Given the description of an element on the screen output the (x, y) to click on. 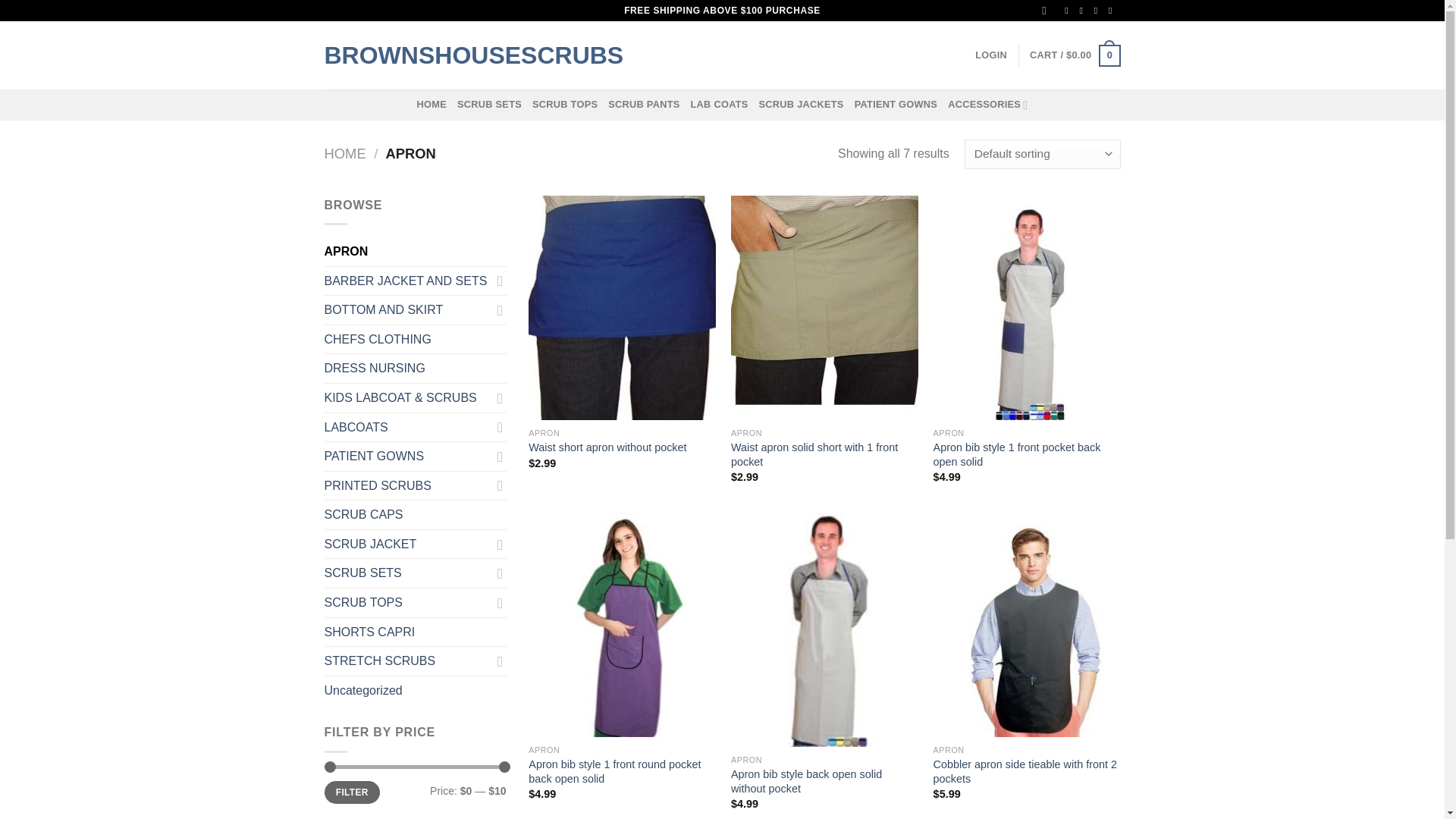
Cart (1074, 55)
ACCESSORIES (987, 104)
BOTTOM AND SKIRT (407, 309)
APRON (415, 251)
Brownshousescrubs (358, 55)
PATIENT GOWNS (895, 104)
SCRUB TOPS (564, 104)
LOGIN (991, 55)
HOME (431, 104)
SCRUB SETS (489, 104)
